Given the description of an element on the screen output the (x, y) to click on. 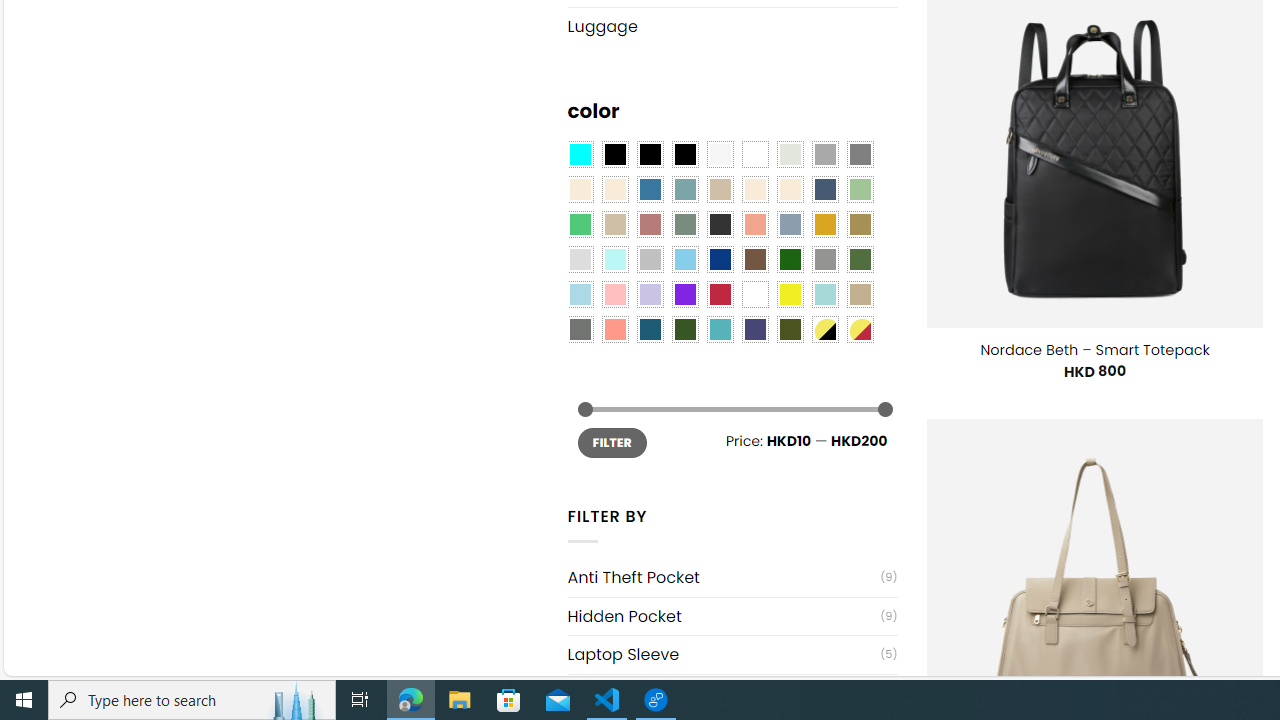
Kelp (859, 224)
Dark Gray (824, 154)
Hidden Pocket (723, 615)
Teal (719, 329)
Dark Green (789, 259)
Mint (614, 259)
Light Blue (579, 295)
Hale Navy (824, 190)
Aqua (824, 295)
Yellow-Red (859, 329)
Dull Nickle (579, 329)
Dusty Blue (789, 224)
All Gray (859, 154)
Purple (684, 295)
Beige (579, 190)
